Given the description of an element on the screen output the (x, y) to click on. 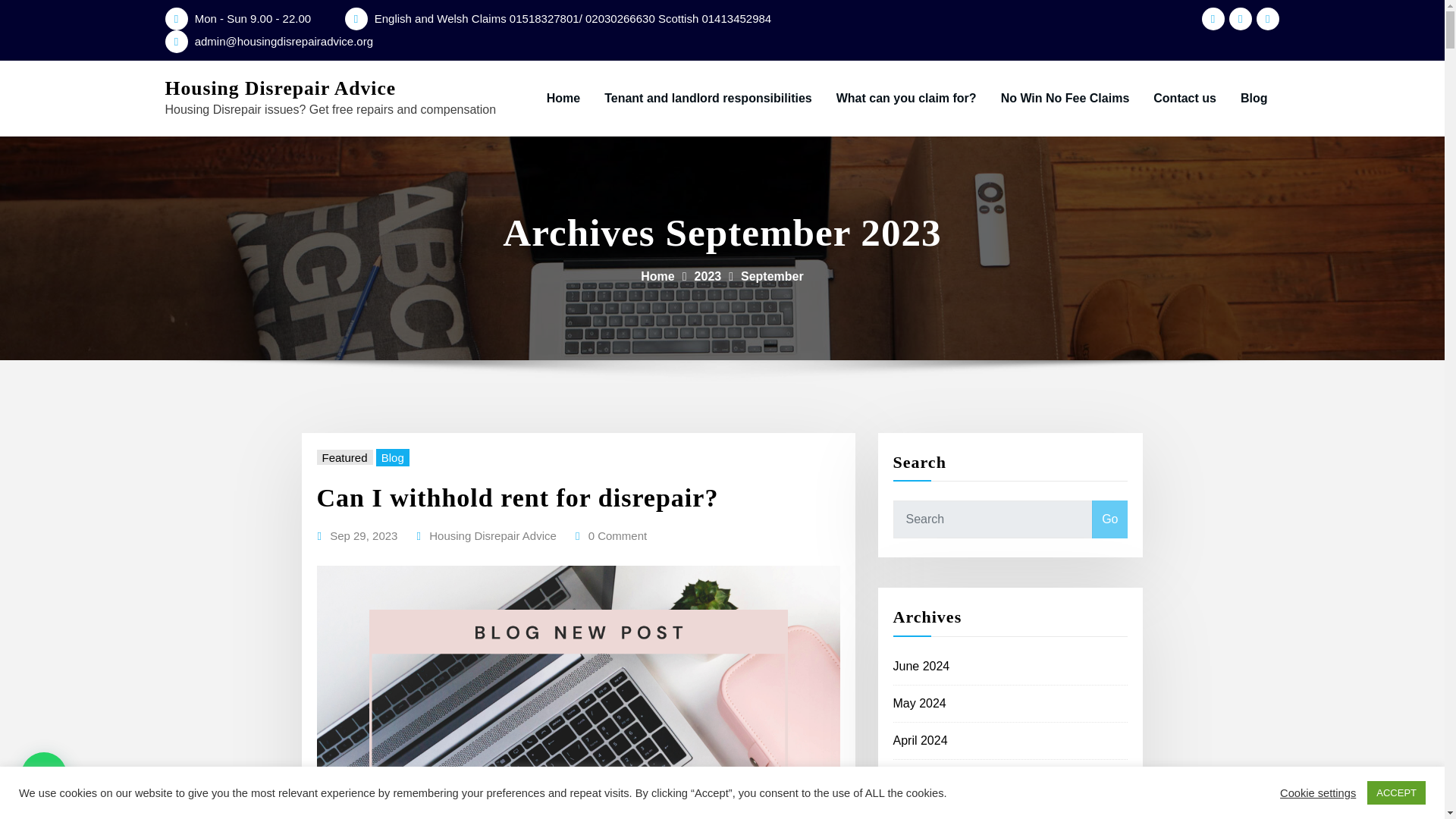
Housing Disrepair Advice (280, 87)
Tenant and landlord responsibilities (708, 98)
September (772, 276)
Mon - Sun 9.00 - 22.00 (253, 18)
Blog (392, 457)
No Win No Fee Claims (1064, 98)
What can you claim for? (906, 98)
0 Comment (617, 536)
2023 (708, 276)
Home (657, 276)
Housing Disrepair Advice (492, 536)
Can I withhold rent for disrepair? (518, 497)
Sep 29, 2023 (363, 536)
Contact us (1184, 98)
